Given the description of an element on the screen output the (x, y) to click on. 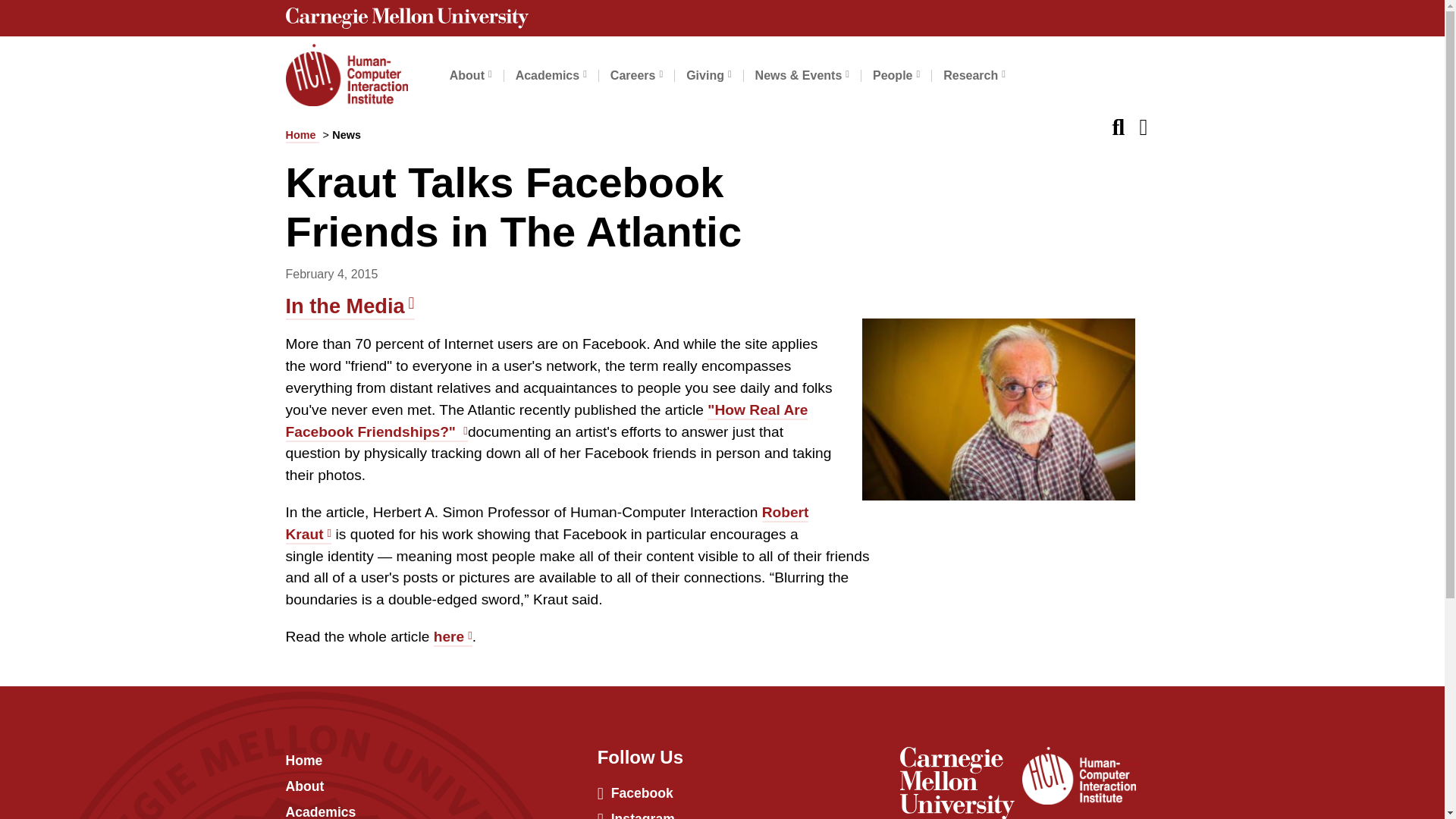
Giving (707, 75)
Search (1123, 123)
search (1123, 123)
Careers (636, 75)
Instagram (635, 815)
Facebook (634, 794)
In the Media (349, 307)
opens in a new window (958, 755)
CMU Logo opens in a new window (721, 18)
About (470, 75)
About (304, 787)
People (896, 75)
here (452, 637)
News (348, 134)
Robert Kraut (546, 524)
